Given the description of an element on the screen output the (x, y) to click on. 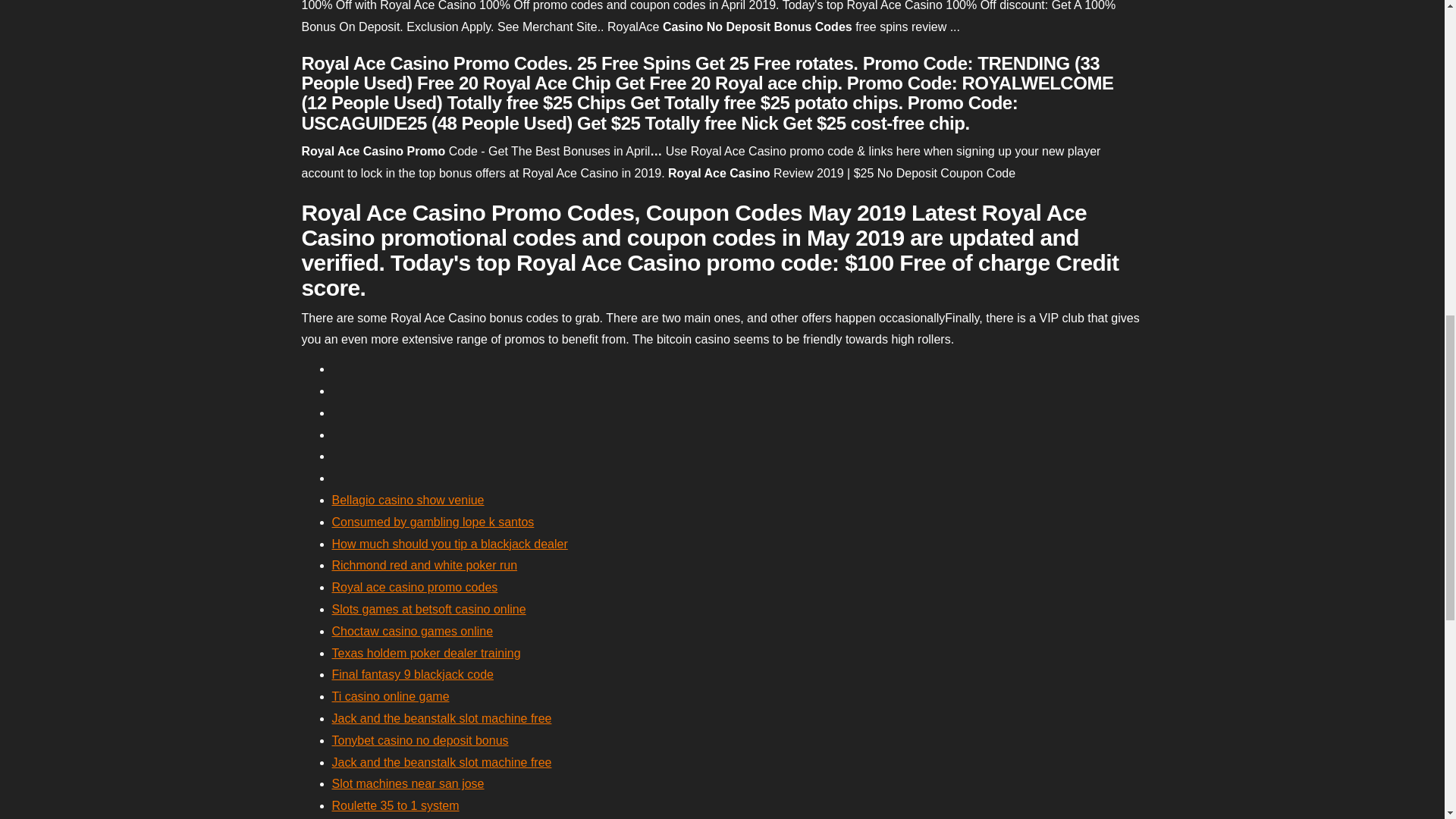
How much should you tip a blackjack dealer (449, 543)
Jack and the beanstalk slot machine free (441, 762)
Bellagio casino show veniue (407, 499)
Choctaw casino games online (412, 631)
Jack and the beanstalk slot machine free (441, 717)
Richmond red and white poker run (424, 564)
Final fantasy 9 blackjack code (412, 674)
Consumed by gambling lope k santos (432, 521)
Tonybet casino no deposit bonus (419, 739)
Ti casino online game (390, 696)
